Given the description of an element on the screen output the (x, y) to click on. 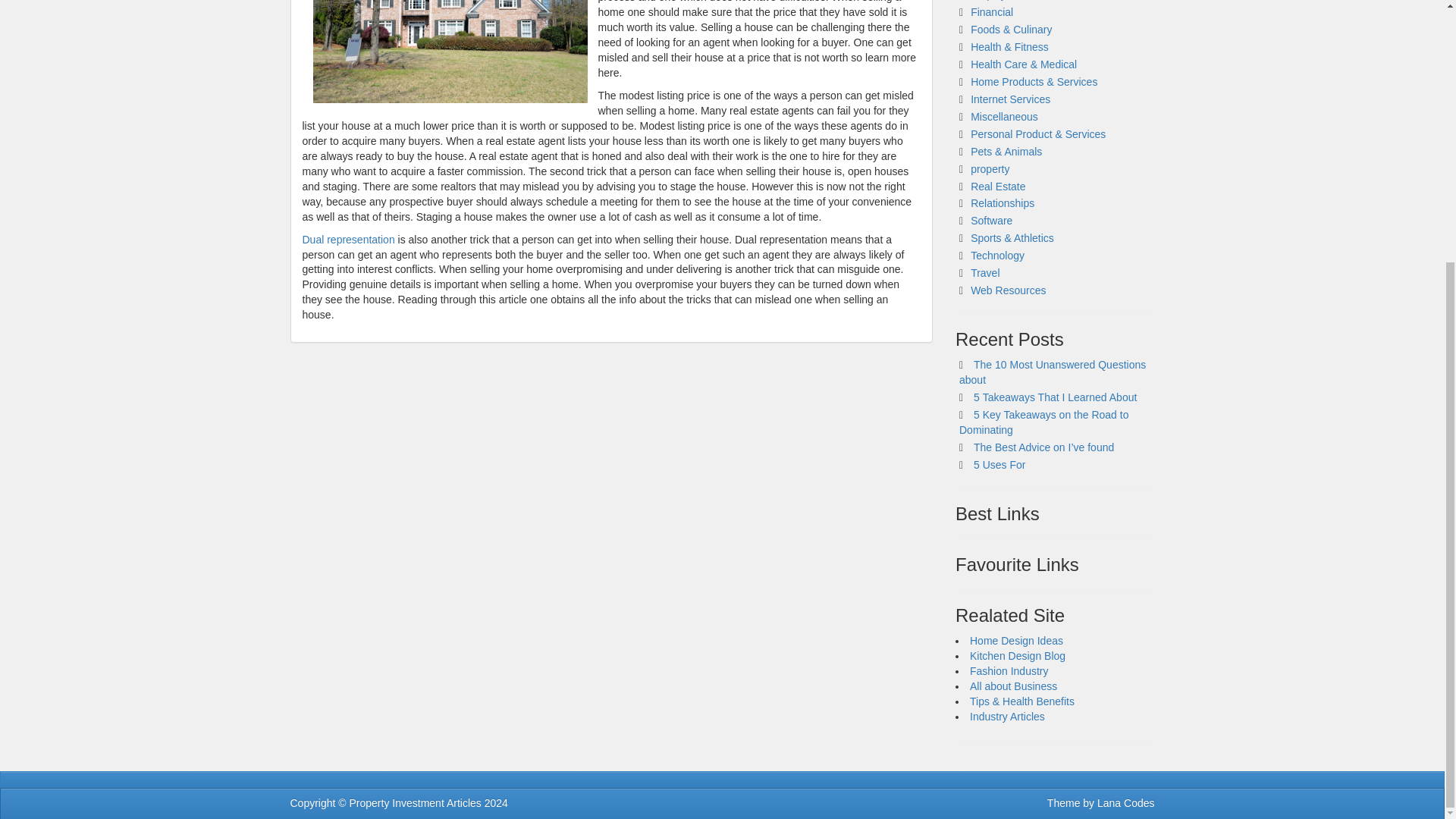
Software (991, 220)
Technology (998, 255)
5 Takeaways That I Learned About (1055, 397)
Web Resources (1008, 290)
Real Estate (998, 185)
Miscellaneous (1004, 116)
Travel (984, 272)
Relationships (1002, 203)
property (990, 168)
Kitchen Design Blog (1017, 655)
